Given the description of an element on the screen output the (x, y) to click on. 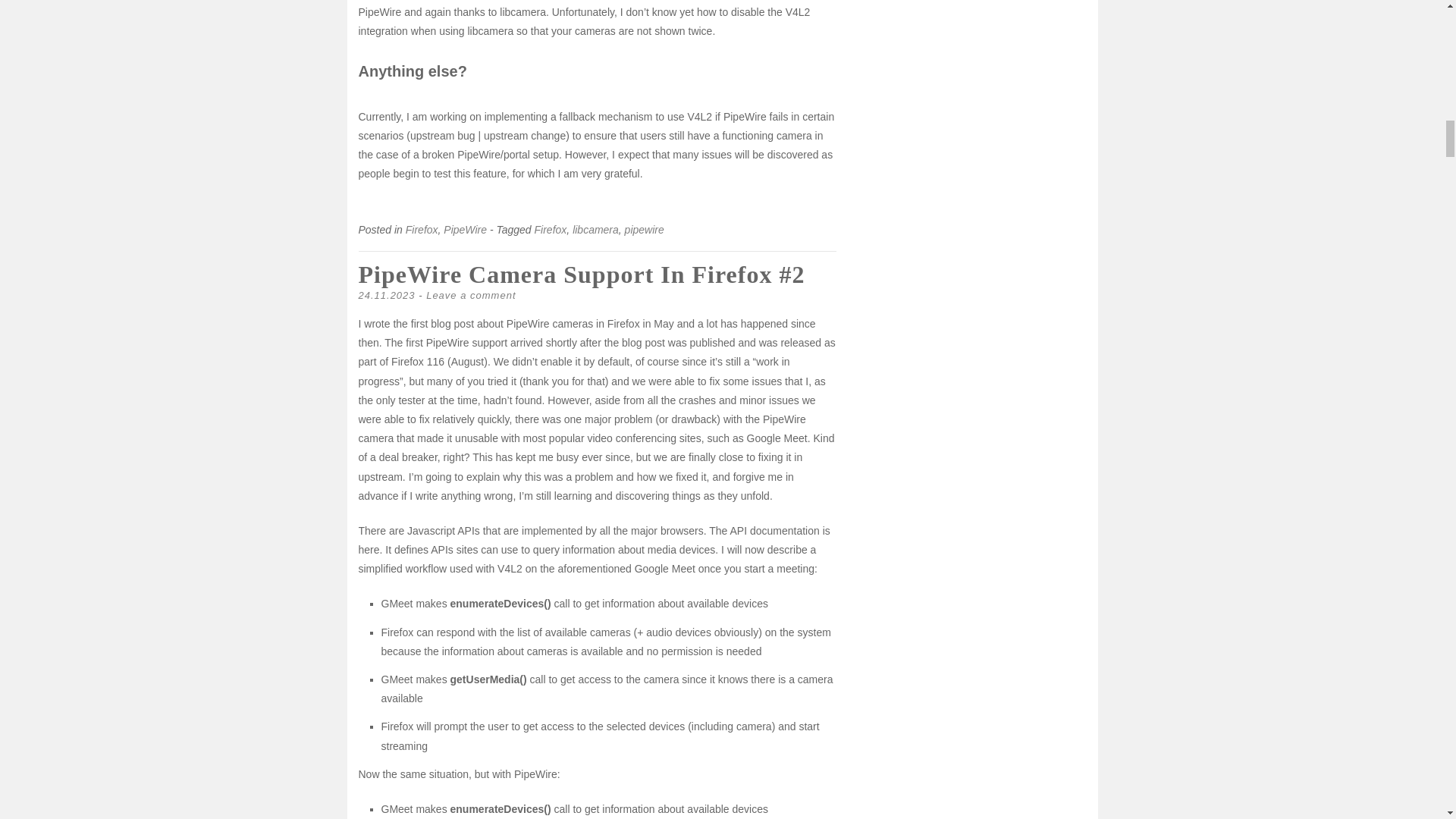
Firefox (550, 229)
upstream bug (443, 135)
PipeWire (465, 229)
Firefox (422, 229)
upstream change (524, 135)
pipewire (643, 229)
libcamera (595, 229)
